Given the description of an element on the screen output the (x, y) to click on. 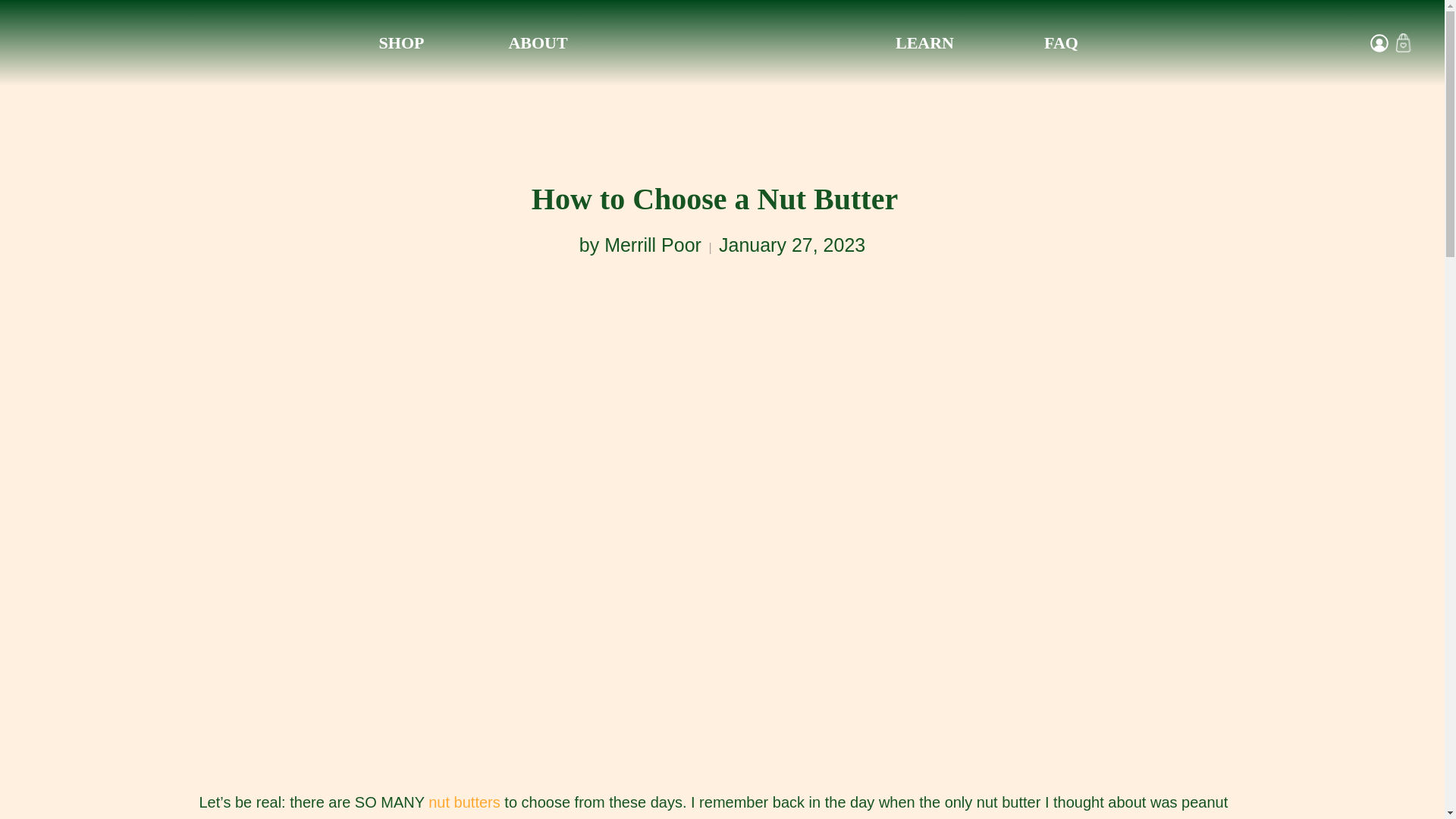
LEARN (925, 42)
SHOP (401, 42)
FAQ (1061, 42)
nut butters (464, 801)
by Merrill Poor (640, 244)
Living Nutz (730, 42)
ABOUT (538, 42)
